Given the description of an element on the screen output the (x, y) to click on. 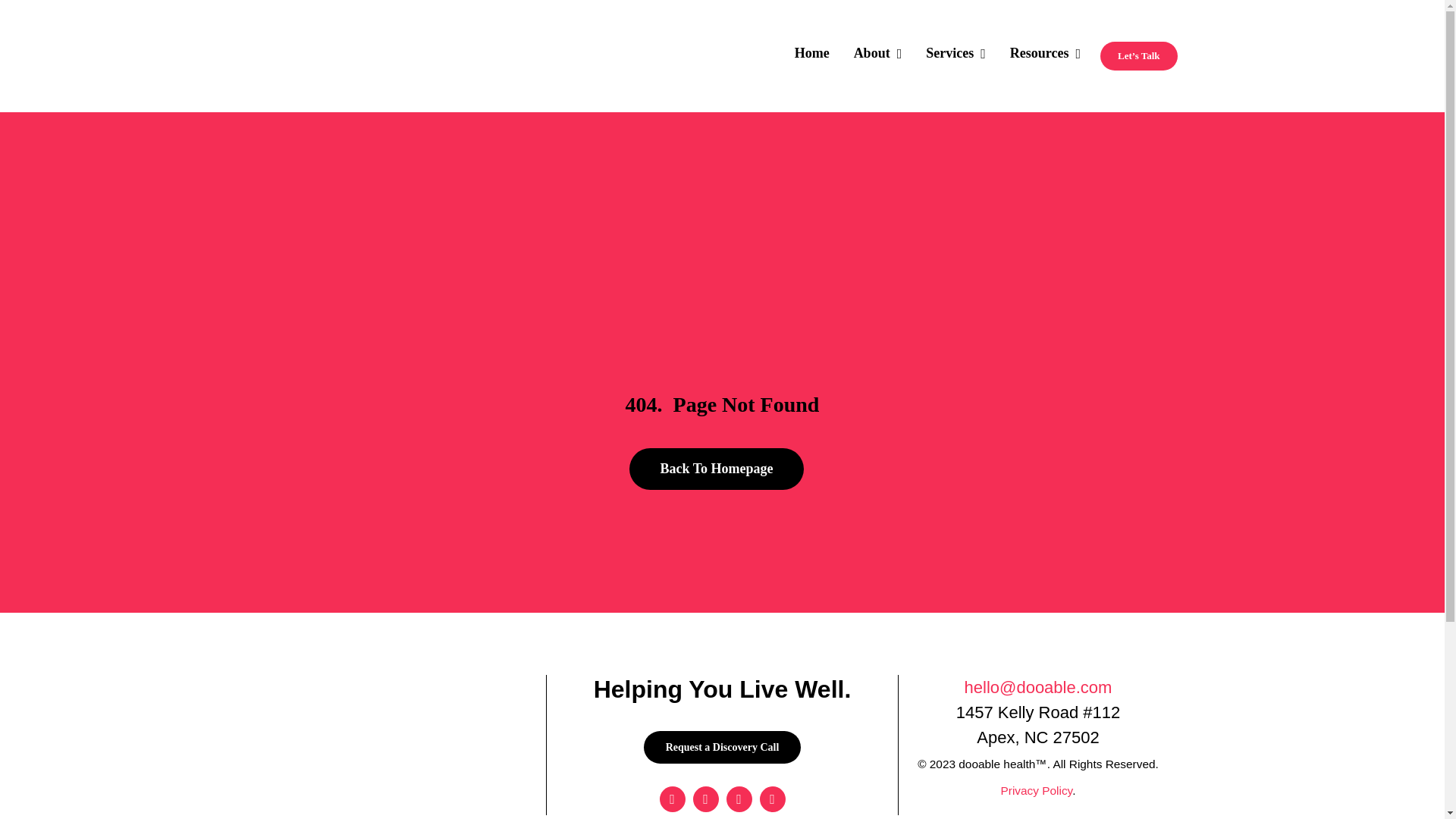
Home (812, 56)
YouTube (739, 799)
LinkedIn (773, 799)
Resources (1045, 56)
Back To Homepage (715, 468)
Instagram (706, 799)
Services (955, 56)
Facebook (672, 799)
About (877, 56)
